Given the description of an element on the screen output the (x, y) to click on. 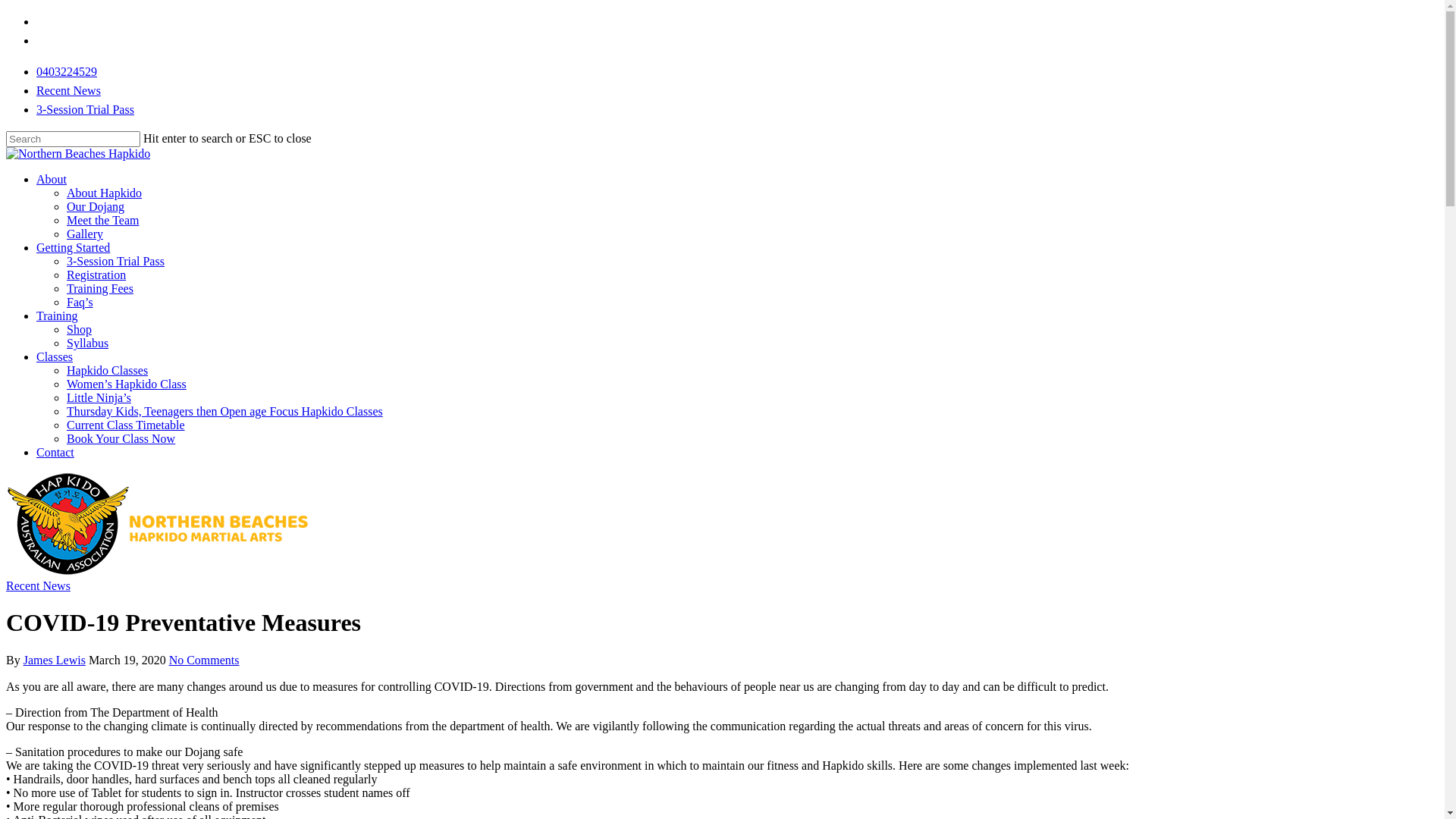
About Element type: text (51, 178)
Gallery Element type: text (84, 233)
Classes Element type: text (54, 356)
Book Your Class Now Element type: text (120, 438)
Training Fees Element type: text (99, 288)
No Comments Element type: text (204, 659)
3-Session Trial Pass Element type: text (115, 260)
Our Dojang Element type: text (95, 206)
Registration Element type: text (95, 274)
Thursday Kids, Teenagers then Open age Focus Hapkido Classes Element type: text (224, 410)
Contact Element type: text (55, 451)
Getting Started Element type: text (72, 247)
Recent News Element type: text (68, 90)
0403224529 Element type: text (66, 71)
3-Session Trial Pass Element type: text (85, 109)
Recent News Element type: text (38, 585)
Training Element type: text (57, 315)
Syllabus Element type: text (87, 342)
Shop Element type: text (78, 329)
Hapkido Classes Element type: text (106, 370)
James Lewis Element type: text (54, 659)
Meet the Team Element type: text (102, 219)
About Hapkido Element type: text (103, 192)
Current Class Timetable Element type: text (125, 424)
